Given the description of an element on the screen output the (x, y) to click on. 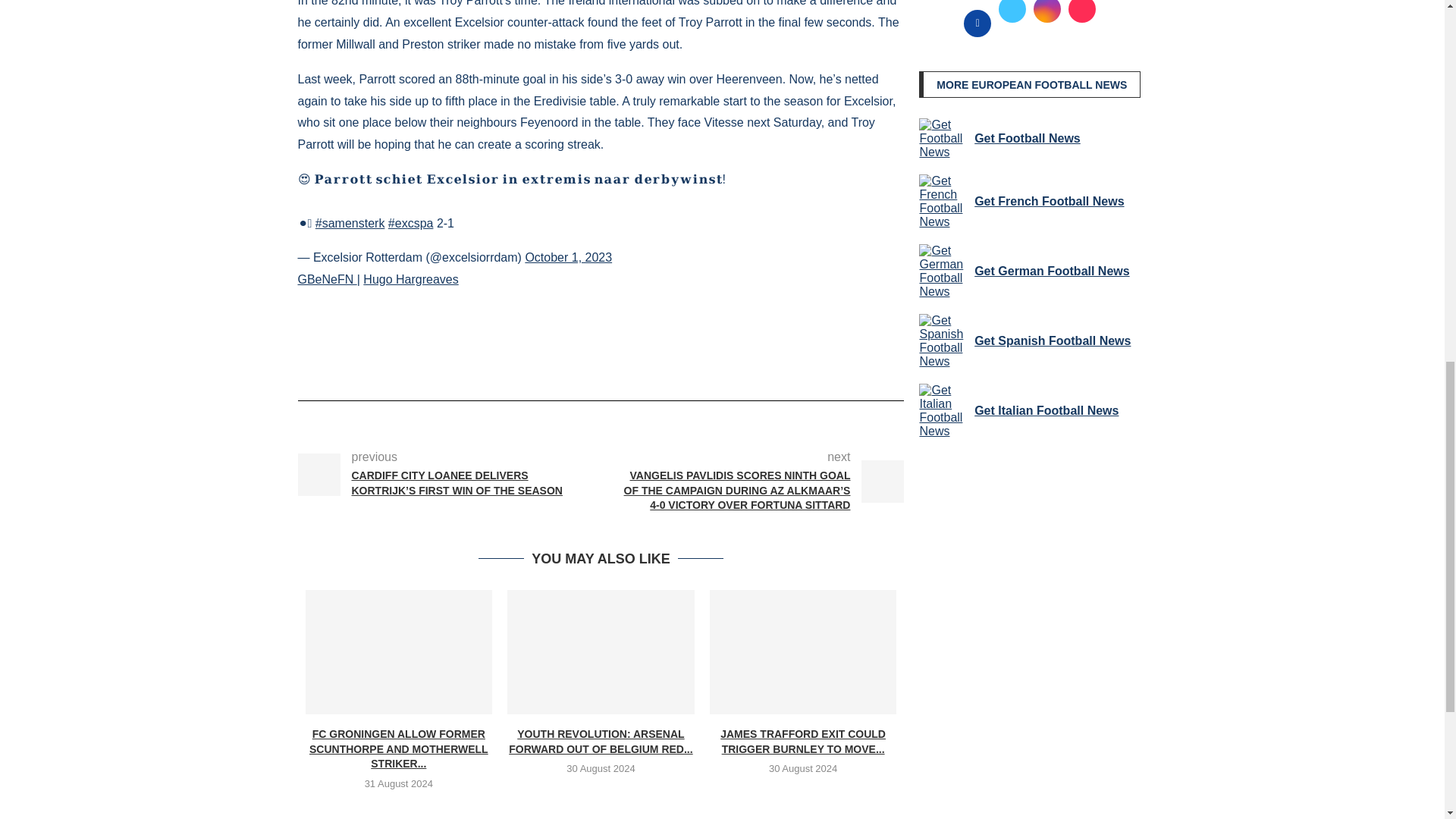
Get German Football News (943, 271)
Get Football News (943, 137)
Get Spanish Football News (943, 340)
Get Italian Football News (943, 411)
Get French Football News (943, 201)
